Given the description of an element on the screen output the (x, y) to click on. 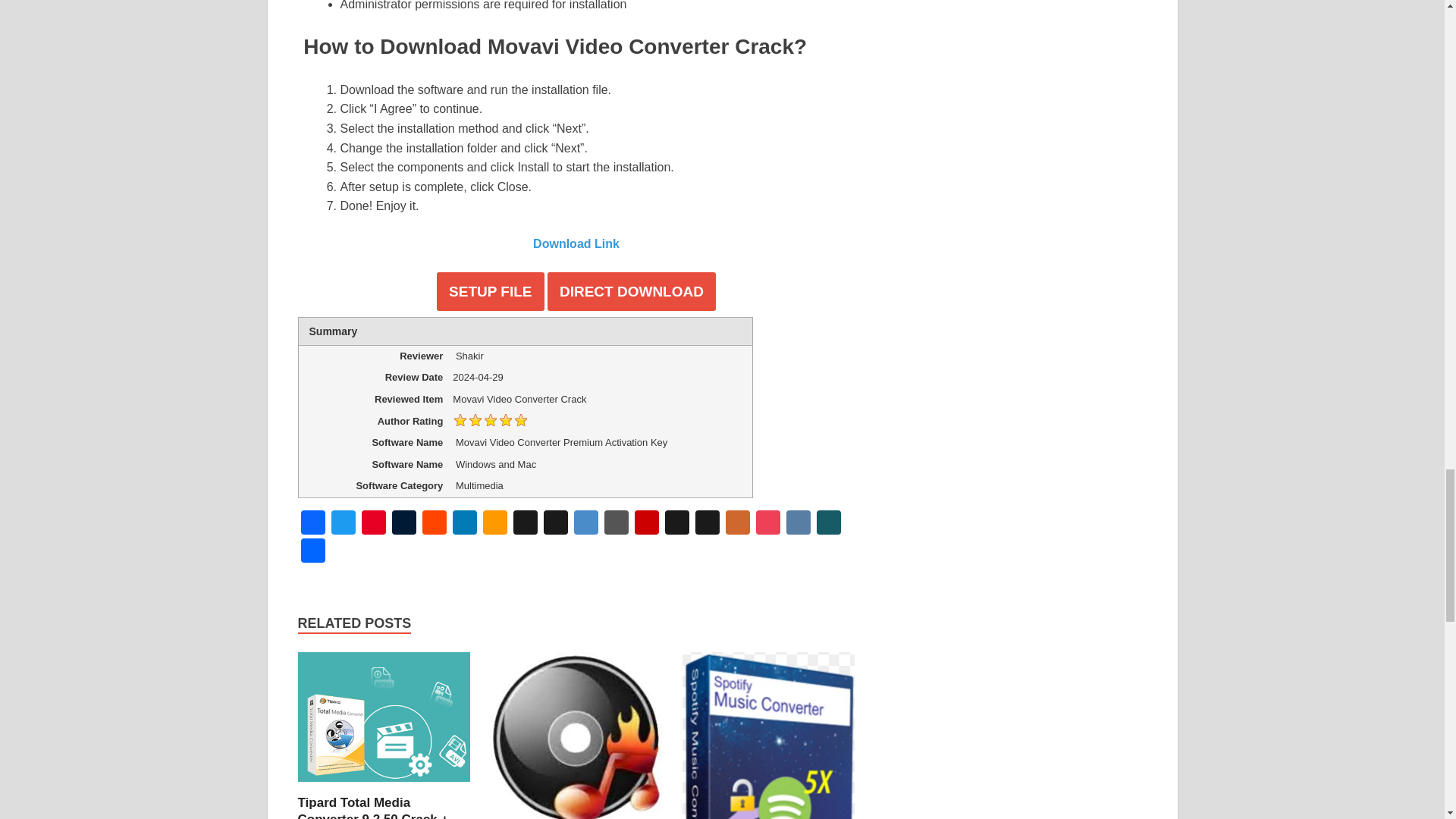
Diigo (584, 524)
Fark (614, 524)
Pinterest (373, 524)
Twitter (342, 524)
Instapaper (676, 524)
Buffer (524, 524)
Reddit (433, 524)
Flipboard (645, 524)
Amazon Wish List (494, 524)
Digg (555, 524)
